Given the description of an element on the screen output the (x, y) to click on. 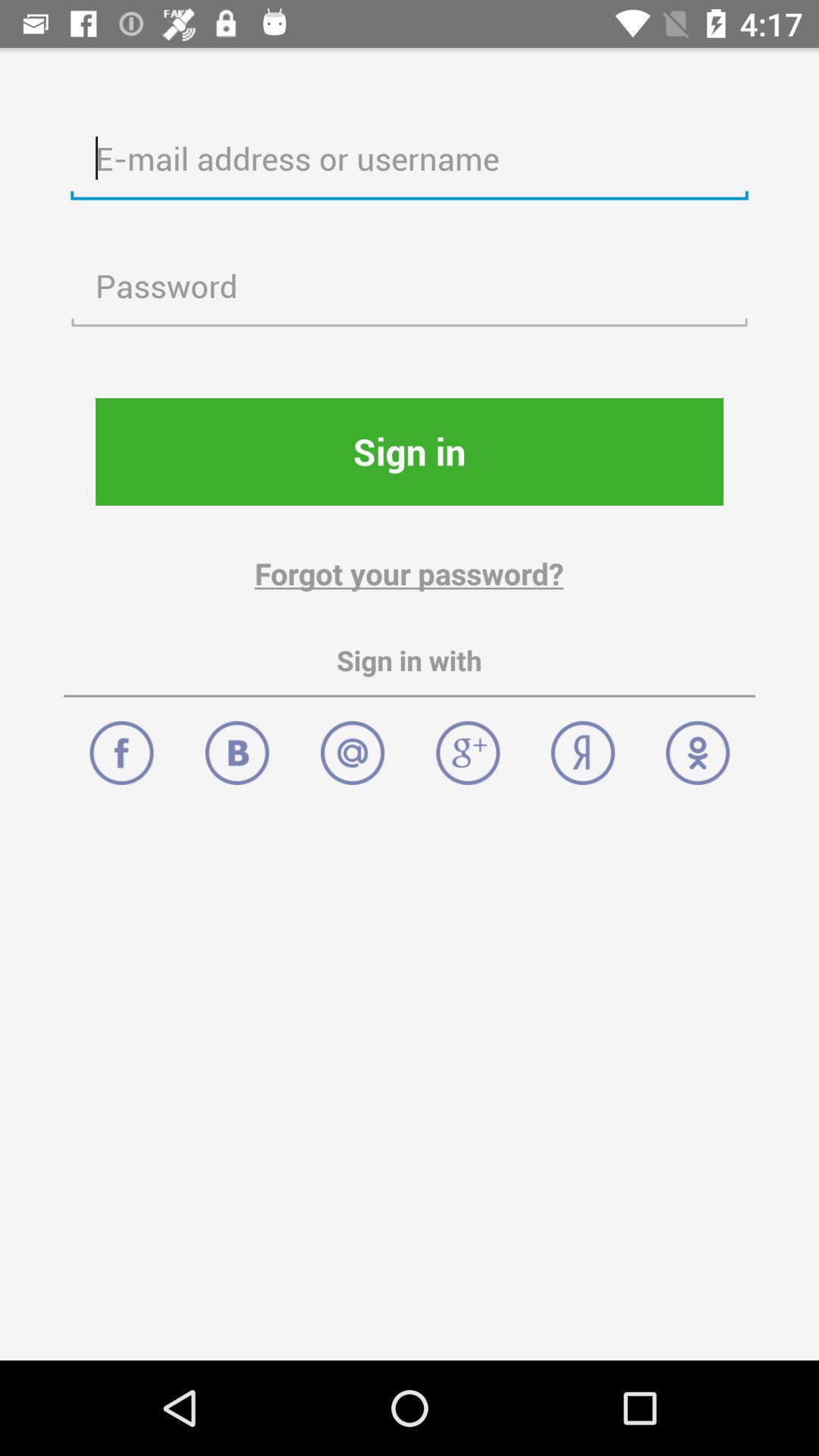
select the blank box which is showing to enter password on the page (409, 286)
click on the last social website option below sign in with text field (697, 744)
click on g (467, 744)
click on at the rate symbol (352, 744)
click on the text email address or username (409, 159)
go to second option from right in the bottom (582, 744)
click on the first icon in the last row (121, 744)
